Given the description of an element on the screen output the (x, y) to click on. 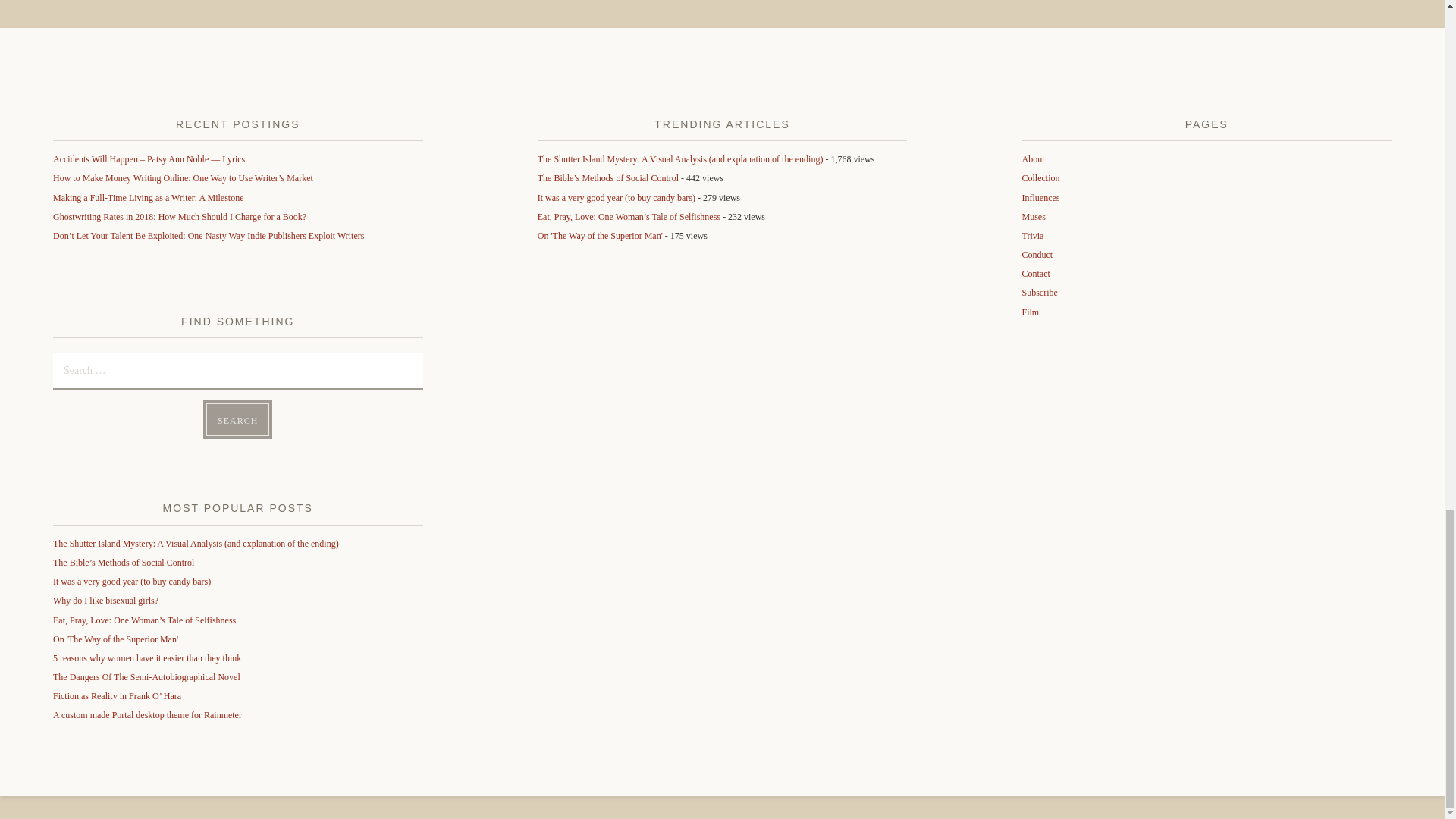
On 'The Way of the Superior Man' (599, 235)
Making a Full-Time Living as a Writer: A Milestone (148, 197)
Search (237, 419)
A custom made Portal desktop theme for Rainmeter (146, 715)
The Dangers Of The Semi-Autobiographical Novel (146, 676)
5 reasons why women have it easier than they think (146, 657)
